Given the description of an element on the screen output the (x, y) to click on. 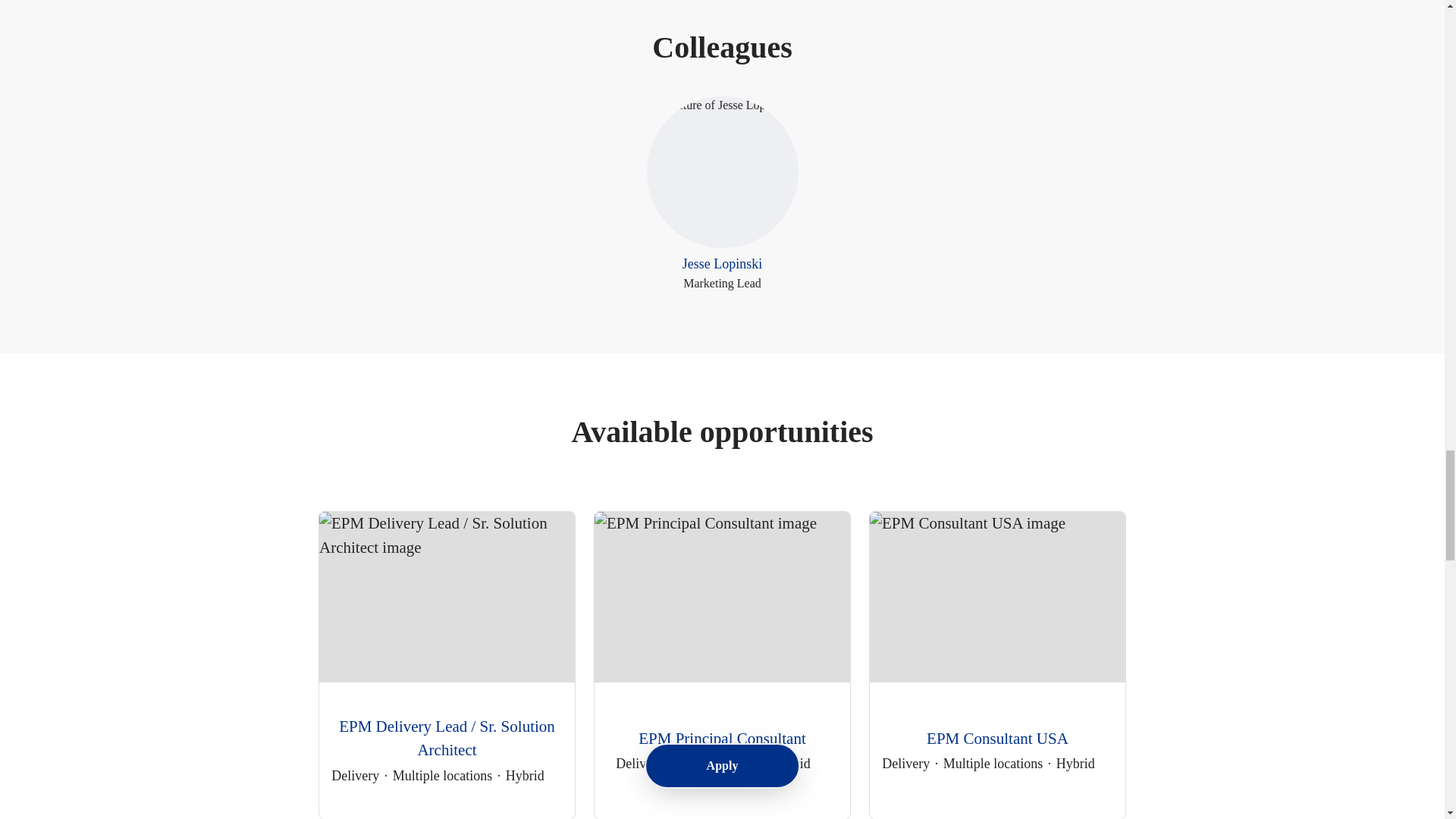
State of Colorado, State of Texas, State of Florida (997, 738)
EPM Principal Consultant (992, 763)
